Given the description of an element on the screen output the (x, y) to click on. 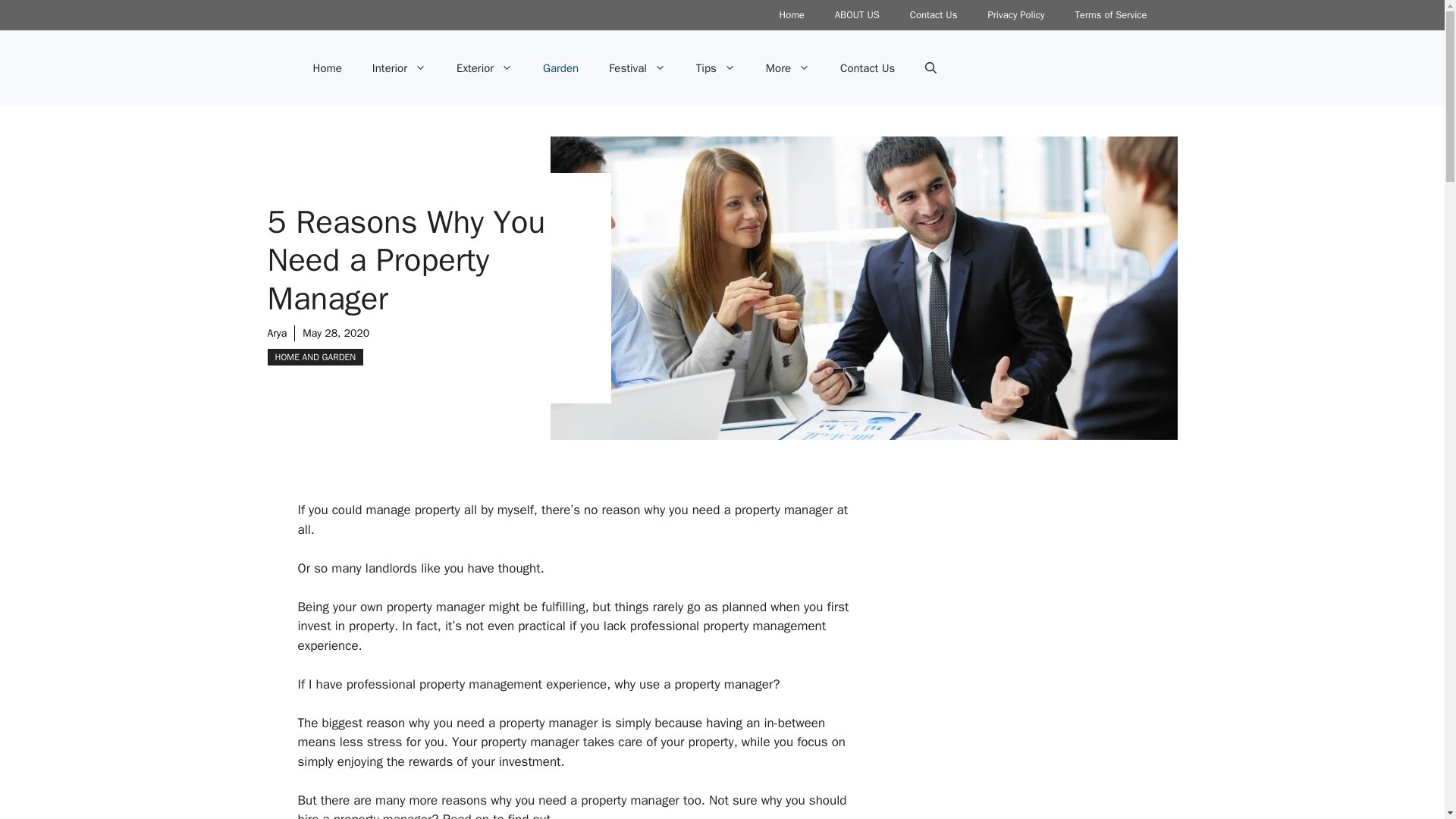
Festival (637, 67)
Garden (560, 67)
Privacy Policy (1015, 15)
Contact Us (933, 15)
ABOUT US (857, 15)
More (788, 67)
Terms of Service (1110, 15)
Interior (398, 67)
Home (791, 15)
Tips (716, 67)
